Given the description of an element on the screen output the (x, y) to click on. 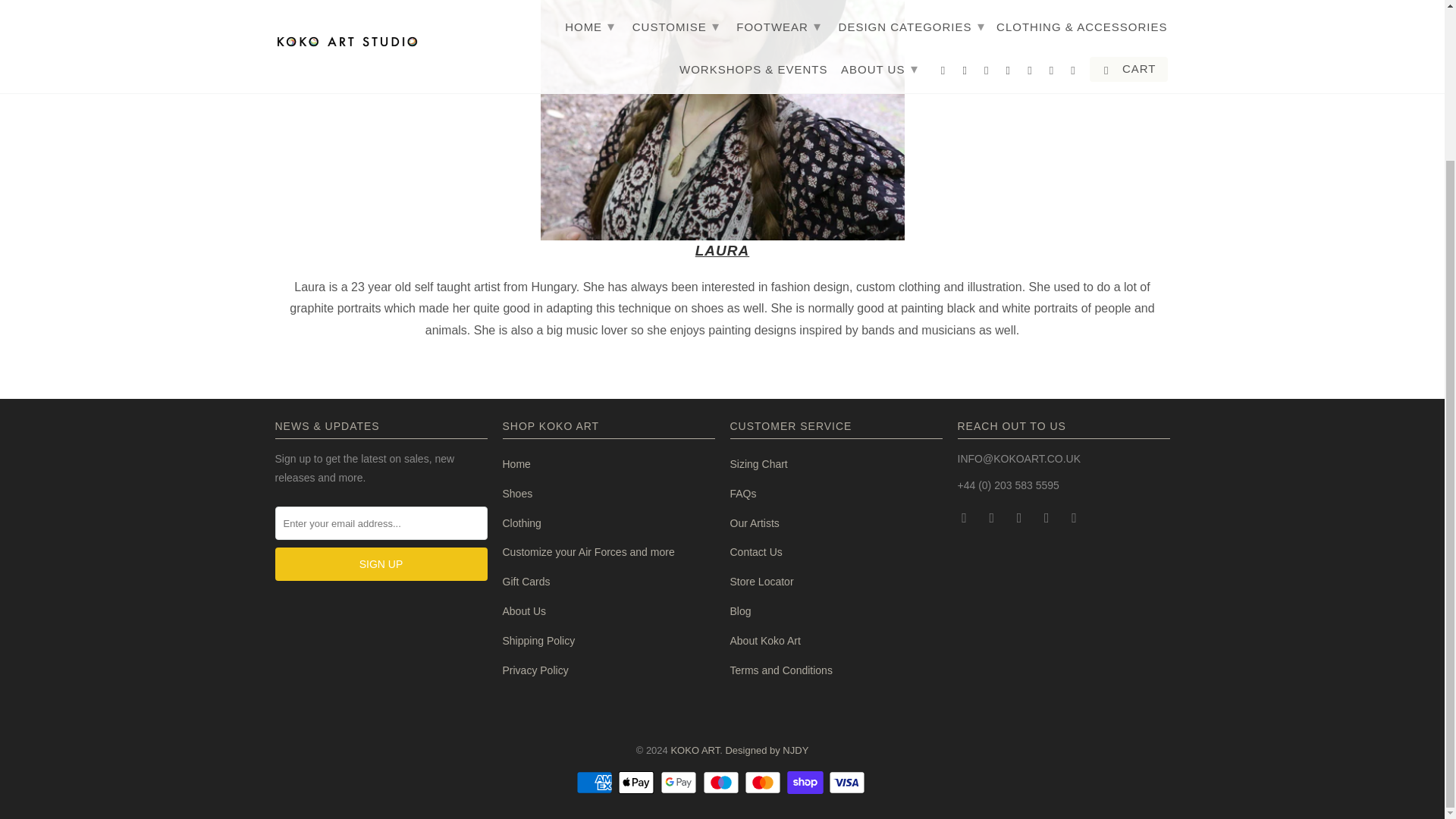
Google Pay (680, 782)
KOKO ART on Pinterest (1020, 516)
KOKO ART on Twitter (965, 516)
Shop Pay (807, 782)
KOKO ART on Instagram (1048, 516)
American Express (595, 782)
Sign Up (380, 563)
Maestro (721, 782)
Mastercard (764, 782)
KOKO ART on Facebook (993, 516)
